Given the description of an element on the screen output the (x, y) to click on. 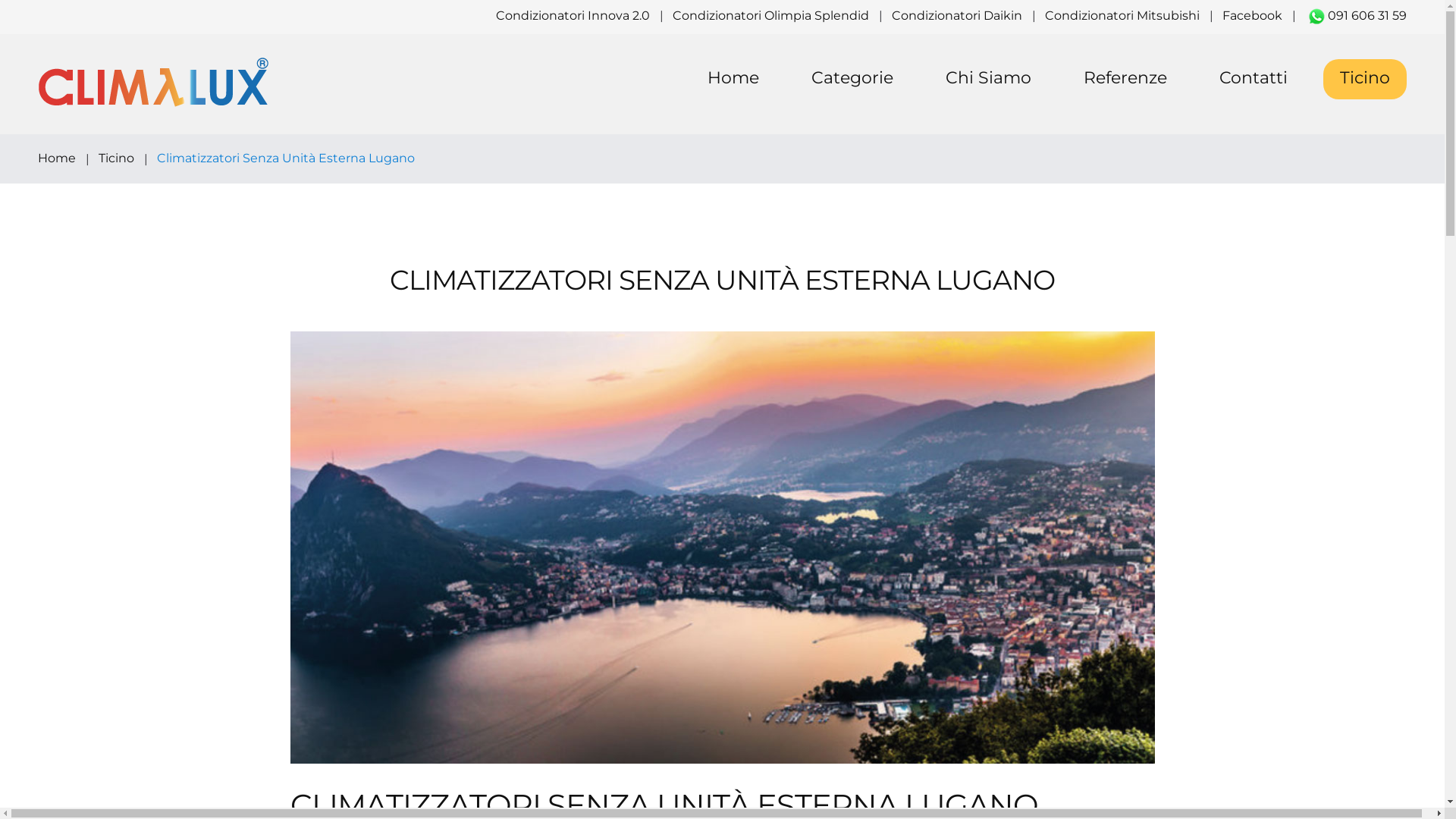
Contatti Element type: text (1253, 79)
Referenze Element type: text (1124, 79)
Categorie Element type: text (852, 79)
Home Element type: text (56, 157)
Ticino Element type: text (1364, 79)
Condizionatori Mitsubishi Element type: text (1121, 15)
Condizionatori Innova 2.0 Element type: text (572, 15)
Condizionatori Olimpia Splendid Element type: text (770, 15)
Condizionatori Daikin Element type: text (956, 15)
Home Element type: text (732, 79)
Facebook Element type: text (1252, 15)
Chi Siamo Element type: text (988, 79)
